Given the description of an element on the screen output the (x, y) to click on. 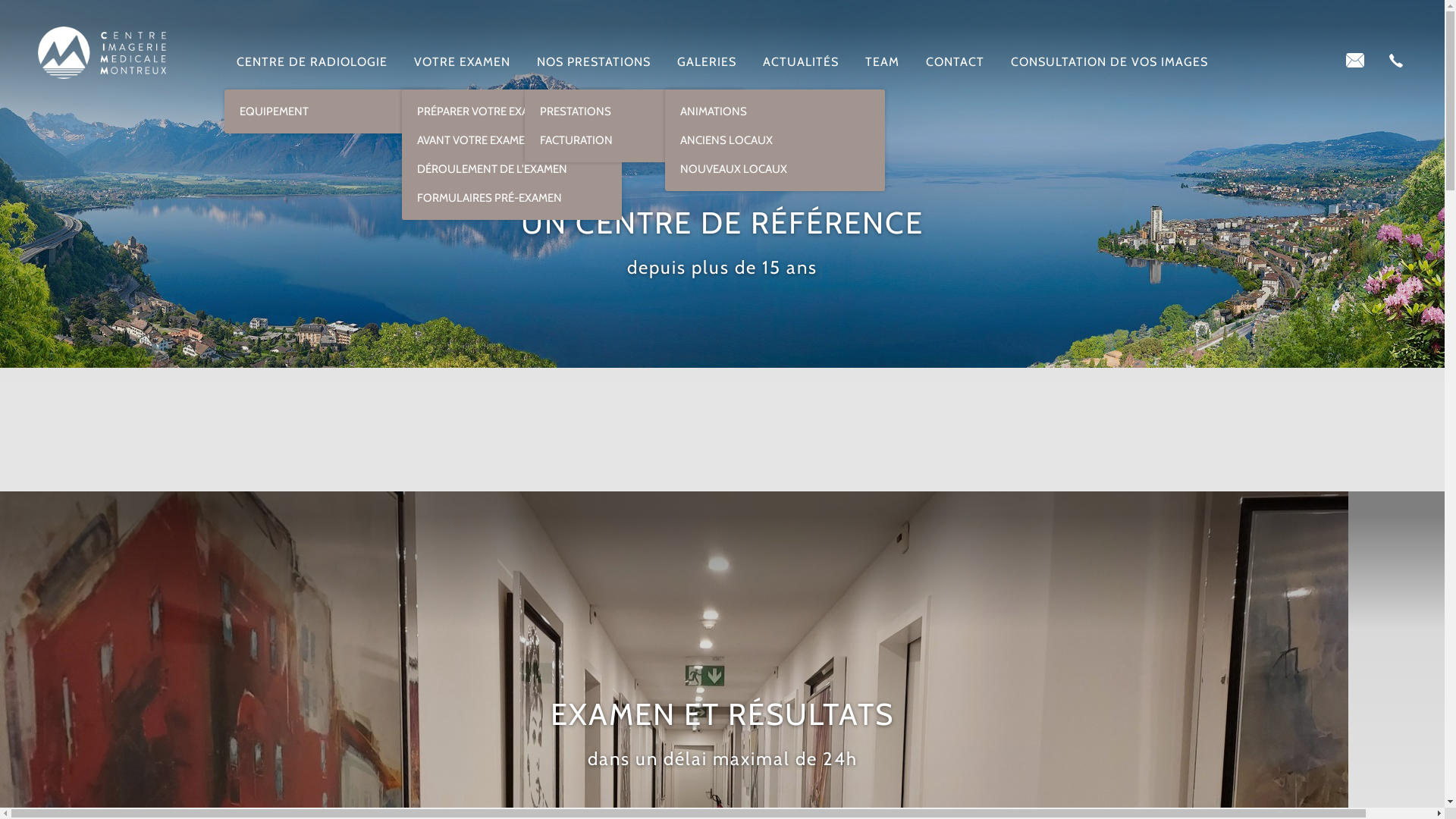
CENTRE DE RADIOLOGIE Element type: text (311, 58)
AVANT VOTRE EXAMEN Element type: text (511, 139)
CONTACT Element type: text (954, 58)
ANCIENS LOCAUX Element type: text (774, 139)
EQUIPEMENT Element type: text (334, 111)
FACTURATION Element type: text (634, 143)
VOTRE EXAMEN Element type: text (461, 58)
TEAM Element type: text (882, 58)
NOS PRESTATIONS Element type: text (593, 58)
NOUVEAUX LOCAUX Element type: text (774, 172)
PRESTATIONS Element type: text (634, 107)
ANIMATIONS Element type: text (774, 107)
cimm.ch Element type: text (101, 52)
CONSULTATION DE VOS IMAGES Element type: text (1109, 58)
GALERIES Element type: text (706, 58)
